Given the description of an element on the screen output the (x, y) to click on. 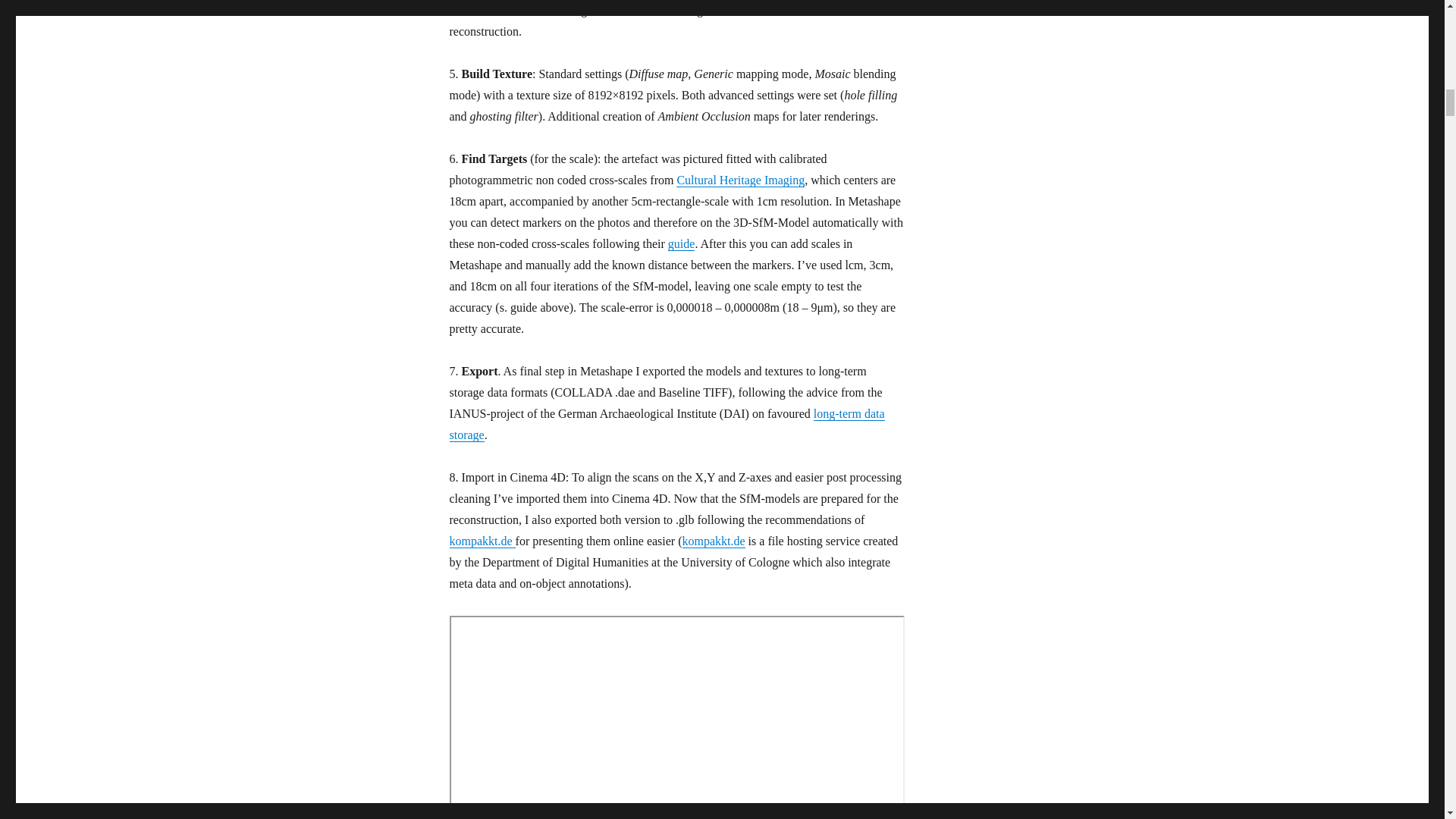
guide (681, 243)
kompakkt.de (481, 540)
kompakkt.de (713, 540)
Cultural Heritage Imaging (741, 179)
long-term data storage (665, 424)
